Given the description of an element on the screen output the (x, y) to click on. 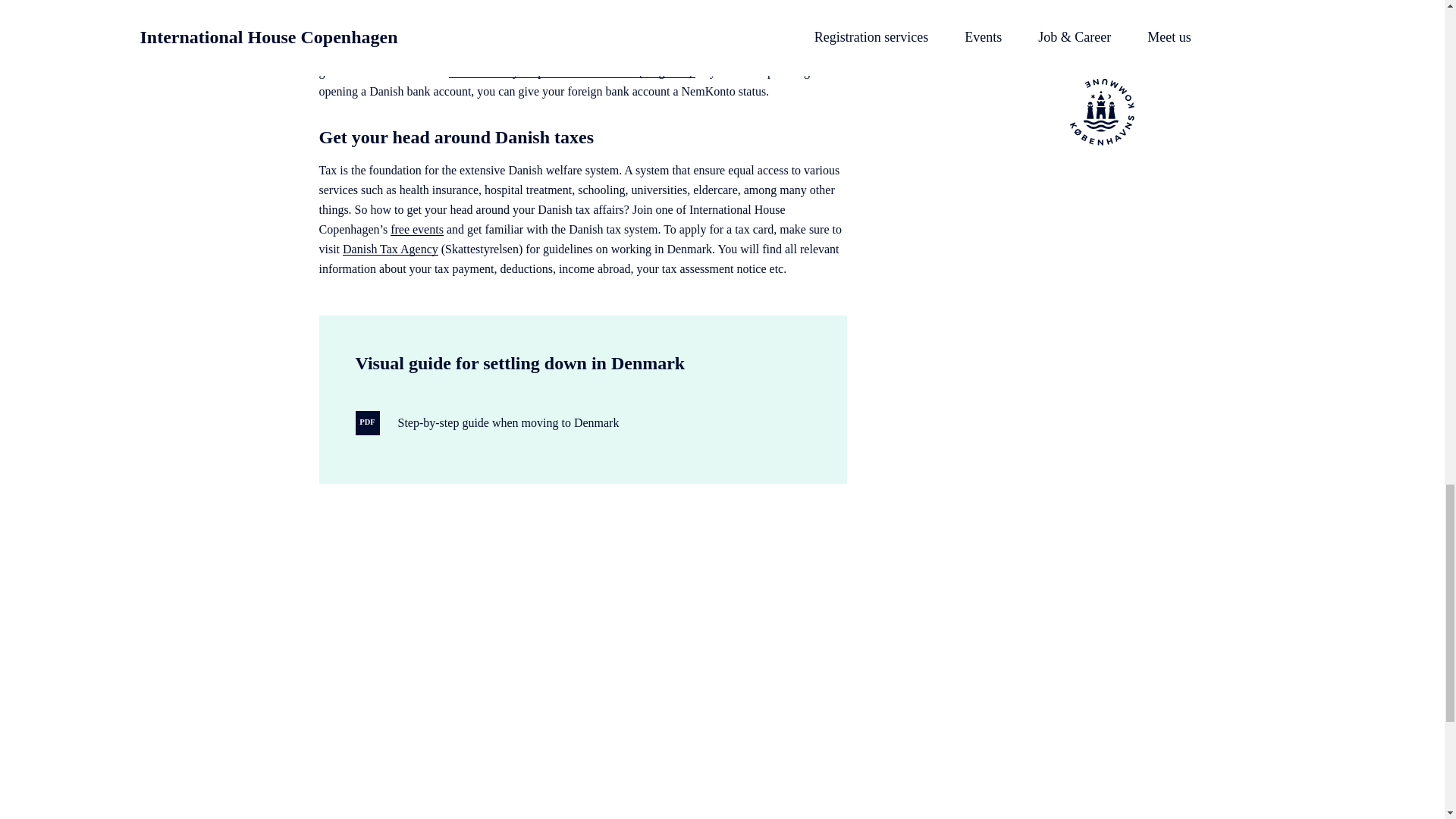
Danish Tax Agency (390, 248)
free events (417, 228)
Step-by-step guide when moving to Denmark (507, 423)
